Given the description of an element on the screen output the (x, y) to click on. 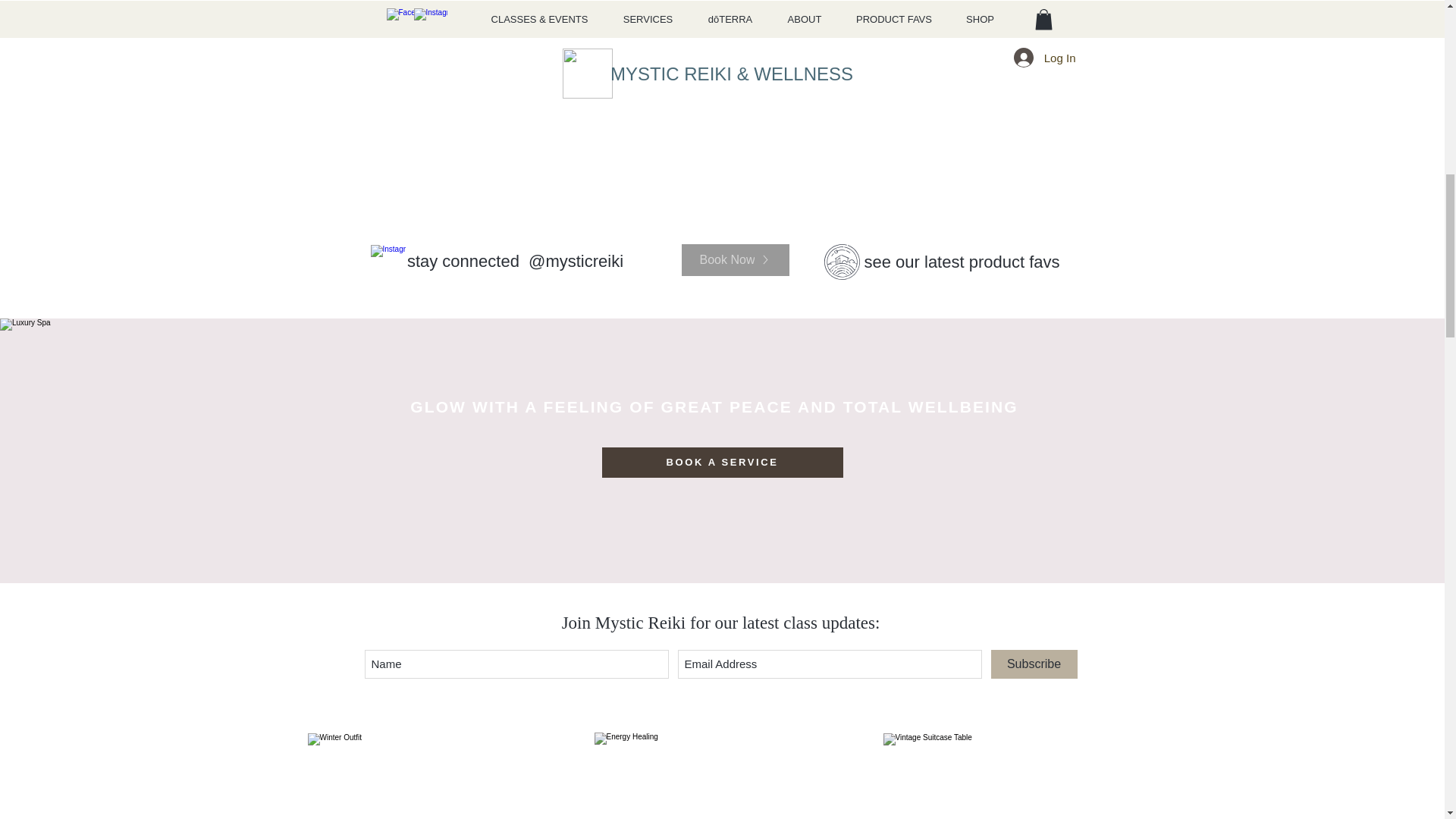
S H O P (955, 8)
Subscribe (1033, 664)
BOOK A SERVICE (722, 462)
see our latest product favs (961, 261)
Book Now (735, 260)
